Given the description of an element on the screen output the (x, y) to click on. 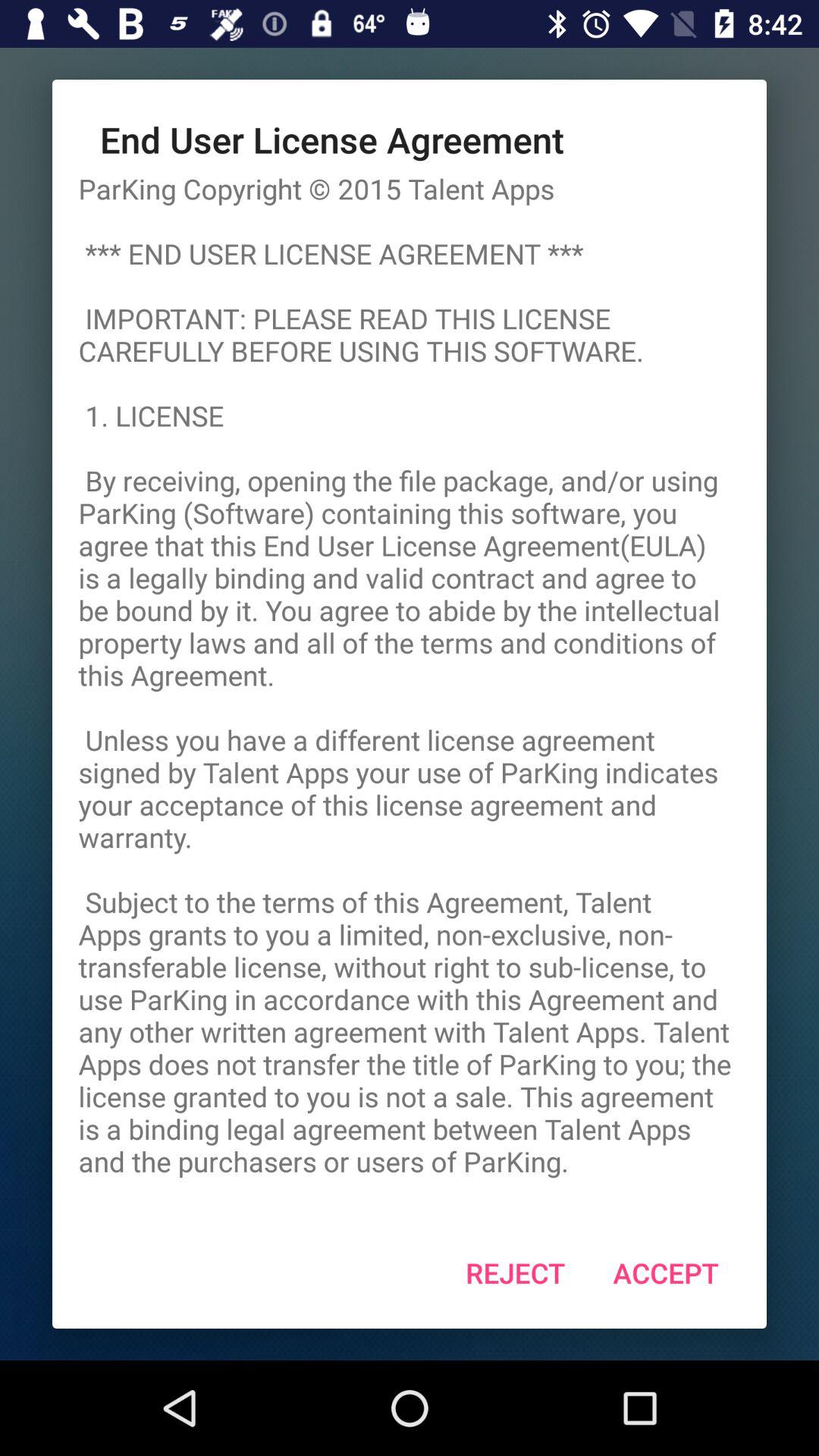
press the reject at the bottom (515, 1272)
